Given the description of an element on the screen output the (x, y) to click on. 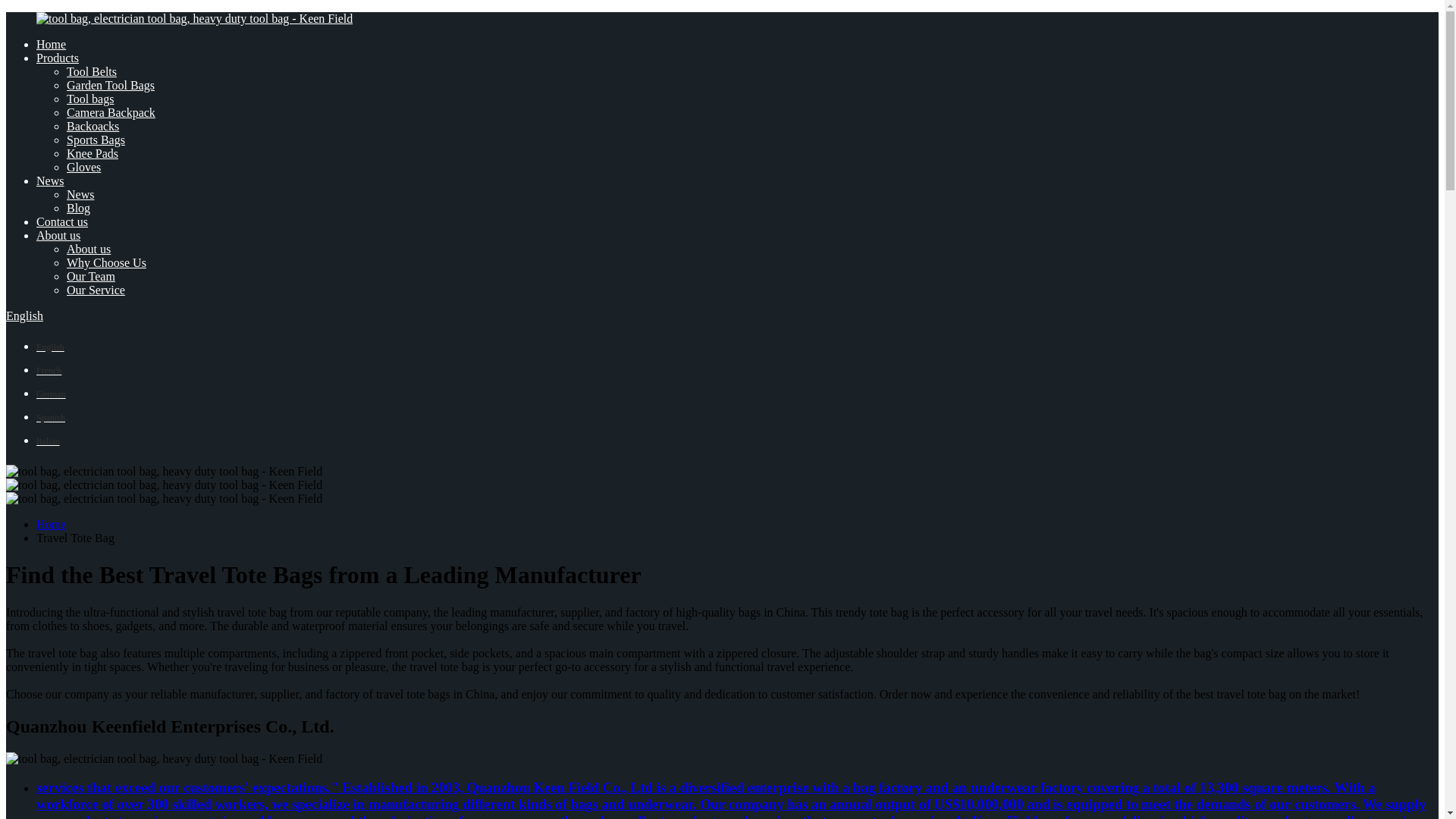
About us (58, 235)
Backoacks (92, 125)
News (80, 194)
Garden Tool Bags (110, 84)
Tool bags (89, 98)
Home (50, 43)
Knee Pads (91, 153)
Gloves (83, 166)
Home (50, 523)
French (48, 369)
Spanish (50, 416)
Camera Backpack (110, 112)
Italian (47, 440)
Blog (78, 207)
Products (57, 57)
